Given the description of an element on the screen output the (x, y) to click on. 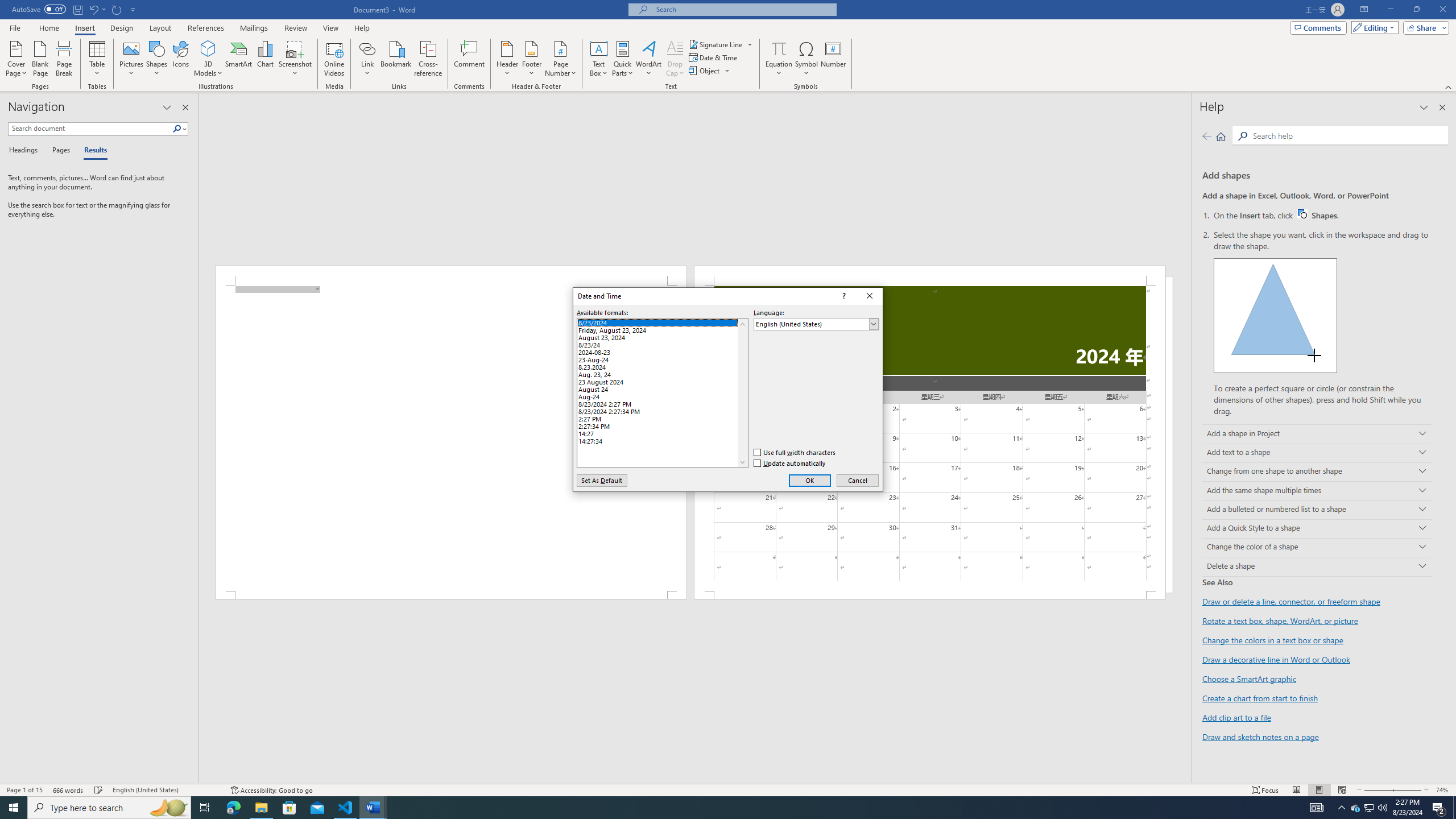
Signature Line (716, 44)
Start (13, 807)
Equation (778, 48)
Header -Section 1- (930, 275)
Object... (709, 69)
Microsoft search (742, 9)
2:27 PM (662, 417)
WordArt (648, 58)
Context help (842, 295)
Line up (742, 323)
